Given the description of an element on the screen output the (x, y) to click on. 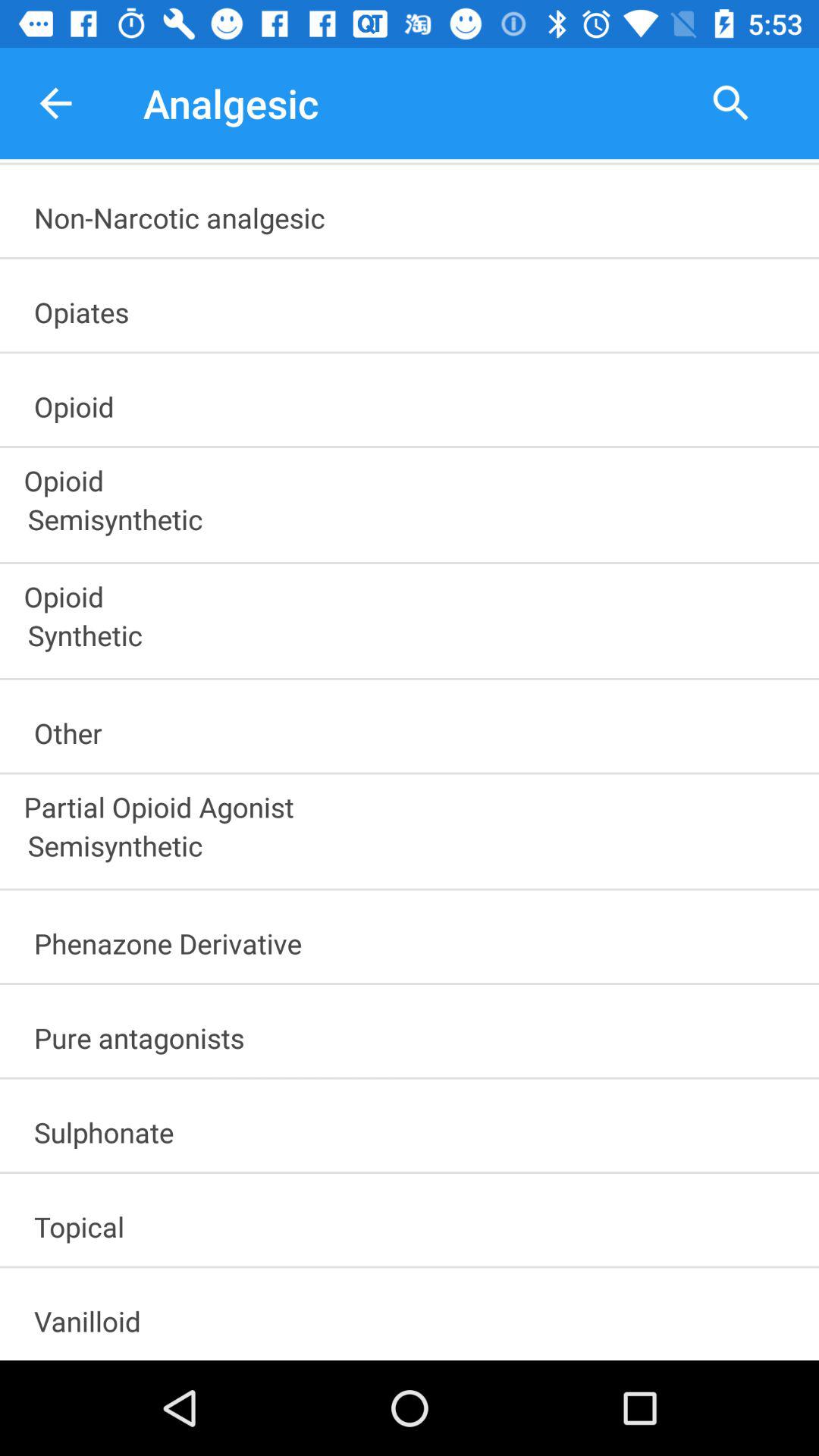
choose the synthetic item (416, 639)
